Given the description of an element on the screen output the (x, y) to click on. 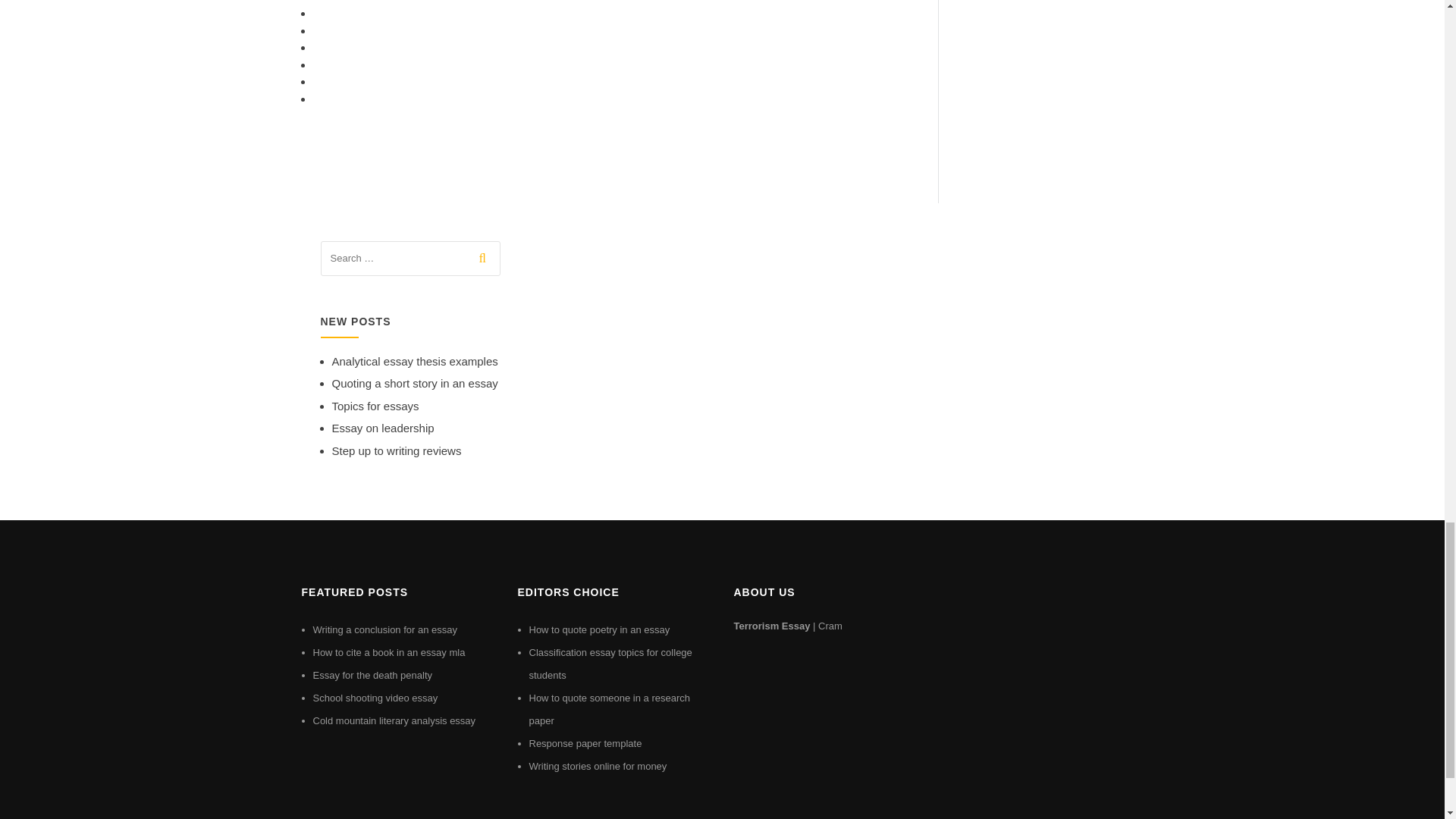
Quoting a short story in an essay (414, 382)
Step up to writing reviews (396, 450)
School shooting video essay (375, 697)
How to cite a book in an essay mla (388, 652)
Classification essay topics for college students (611, 663)
Cold mountain literary analysis essay (394, 720)
Writing stories online for money (597, 766)
Topics for essays (375, 405)
How to quote poetry in an essay (599, 629)
Analytical essay thesis examples (414, 360)
